Given the description of an element on the screen output the (x, y) to click on. 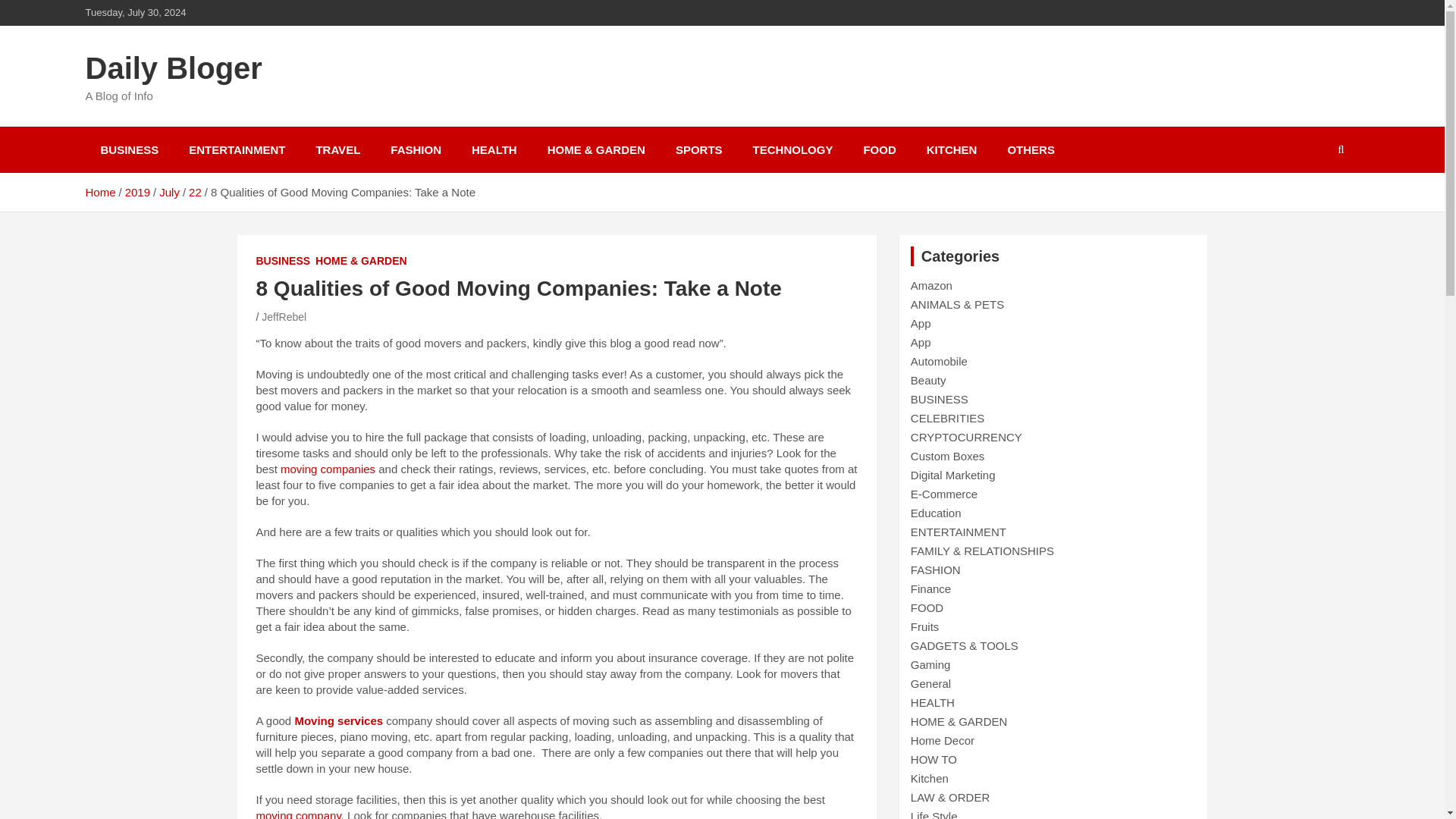
Daily Bloger (173, 68)
Automobile (939, 360)
SPORTS (699, 149)
Beauty (928, 379)
moving company (298, 814)
BUSINESS (283, 261)
OTHERS (1030, 149)
moving companies (328, 468)
ENTERTAINMENT (236, 149)
KITCHEN (951, 149)
2019 (137, 192)
Moving services (338, 720)
CELEBRITIES (948, 418)
Amazon (931, 285)
HEALTH (494, 149)
